Given the description of an element on the screen output the (x, y) to click on. 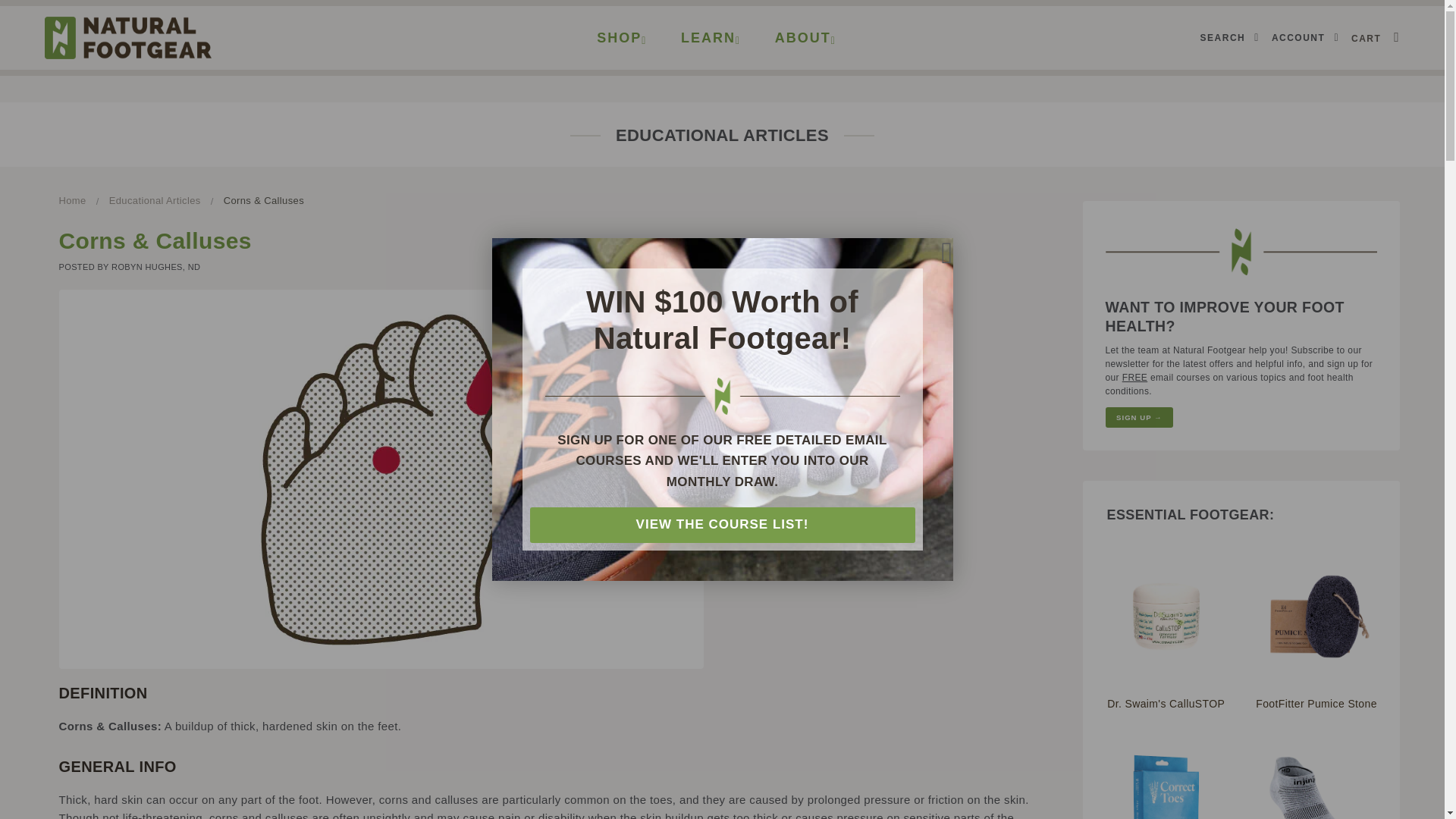
SHOP (621, 37)
Pedaling Innovations Catalyst Pedals (908, 12)
Natural Footgear (128, 36)
ABOUT (805, 37)
LEARN (710, 37)
CATALYST PEDALS (908, 12)
